Given the description of an element on the screen output the (x, y) to click on. 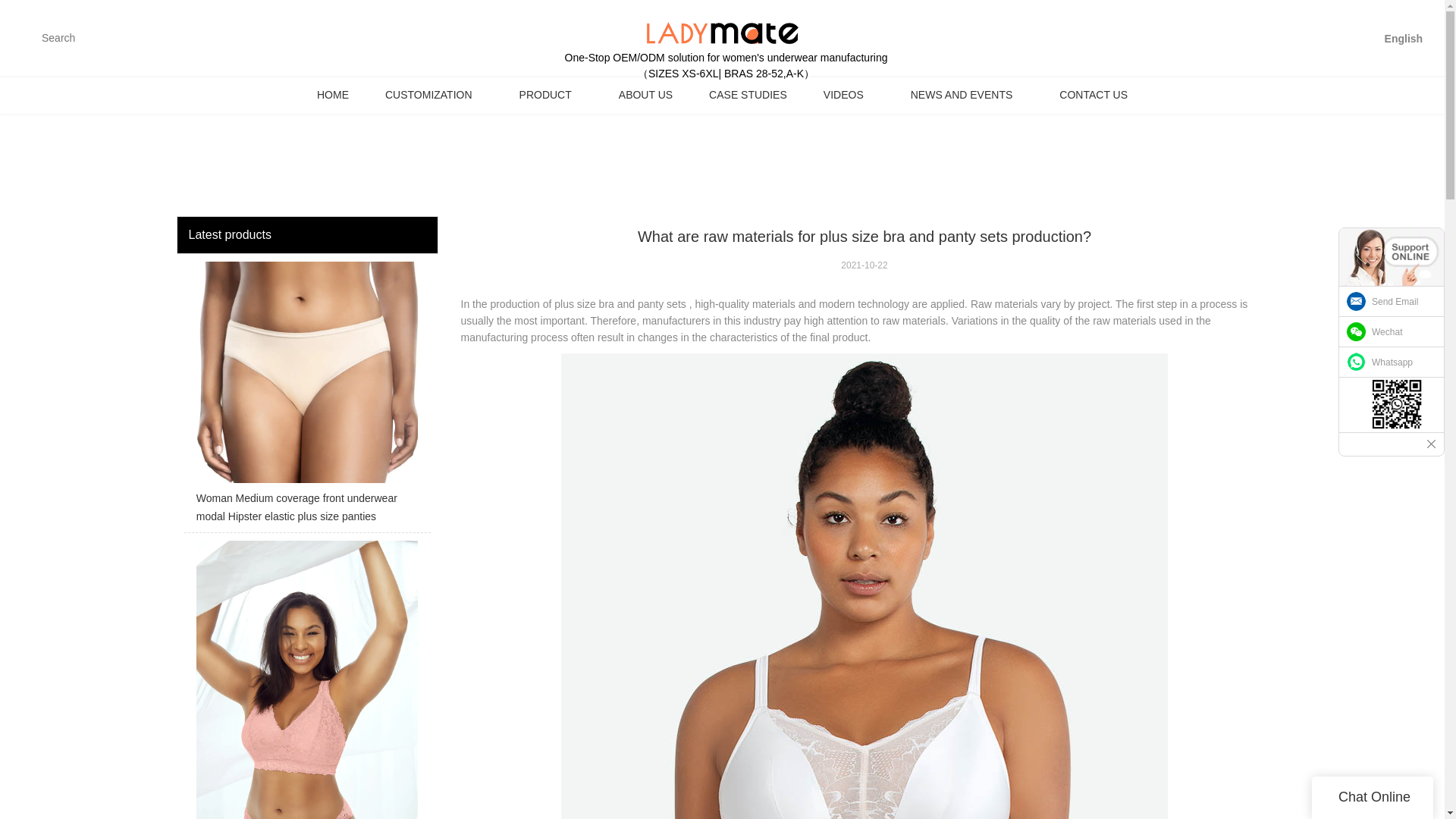
HOME (332, 94)
CUSTOMIZATION (433, 94)
Send Email (1391, 301)
Whatsapp (1391, 362)
PRODUCT (549, 94)
Wechat (1391, 331)
